Given the description of an element on the screen output the (x, y) to click on. 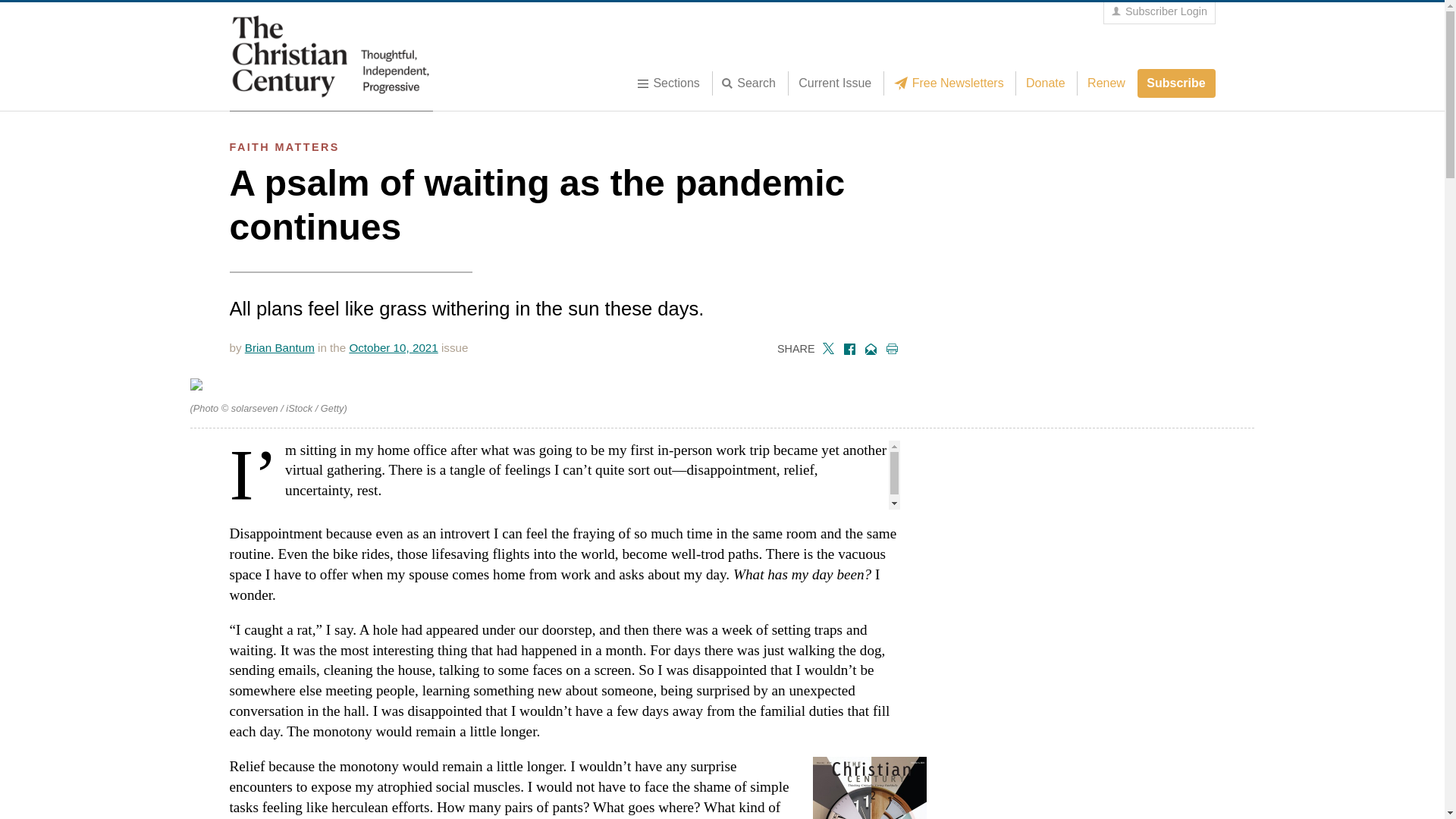
Subscribe (1176, 82)
Free Newsletters (952, 83)
Current Issue (834, 83)
Renew (1105, 83)
title (753, 83)
Donate (1045, 83)
Back to homepage (330, 56)
Subscriber Login (1159, 11)
